Given the description of an element on the screen output the (x, y) to click on. 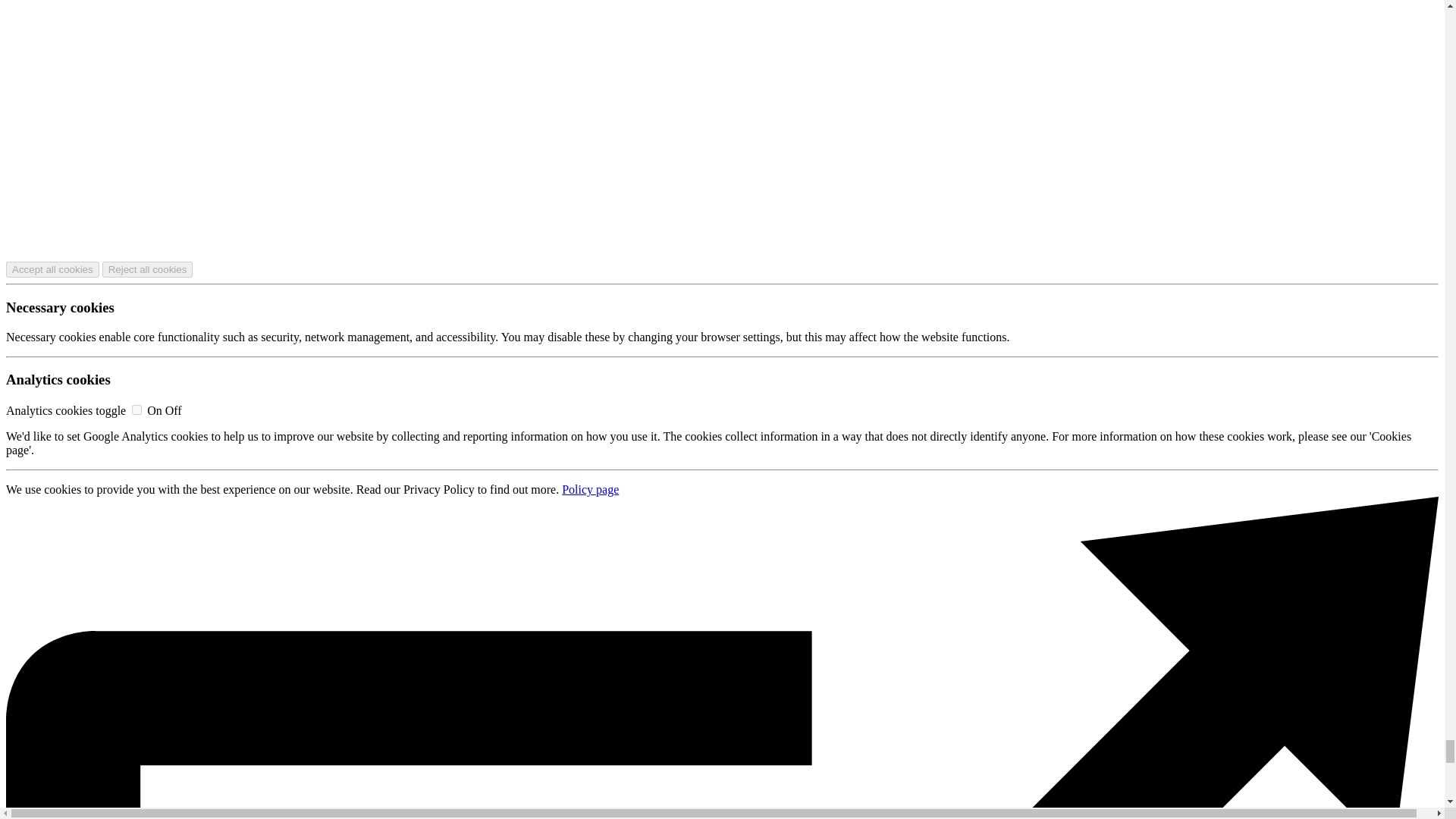
on (136, 409)
